Given the description of an element on the screen output the (x, y) to click on. 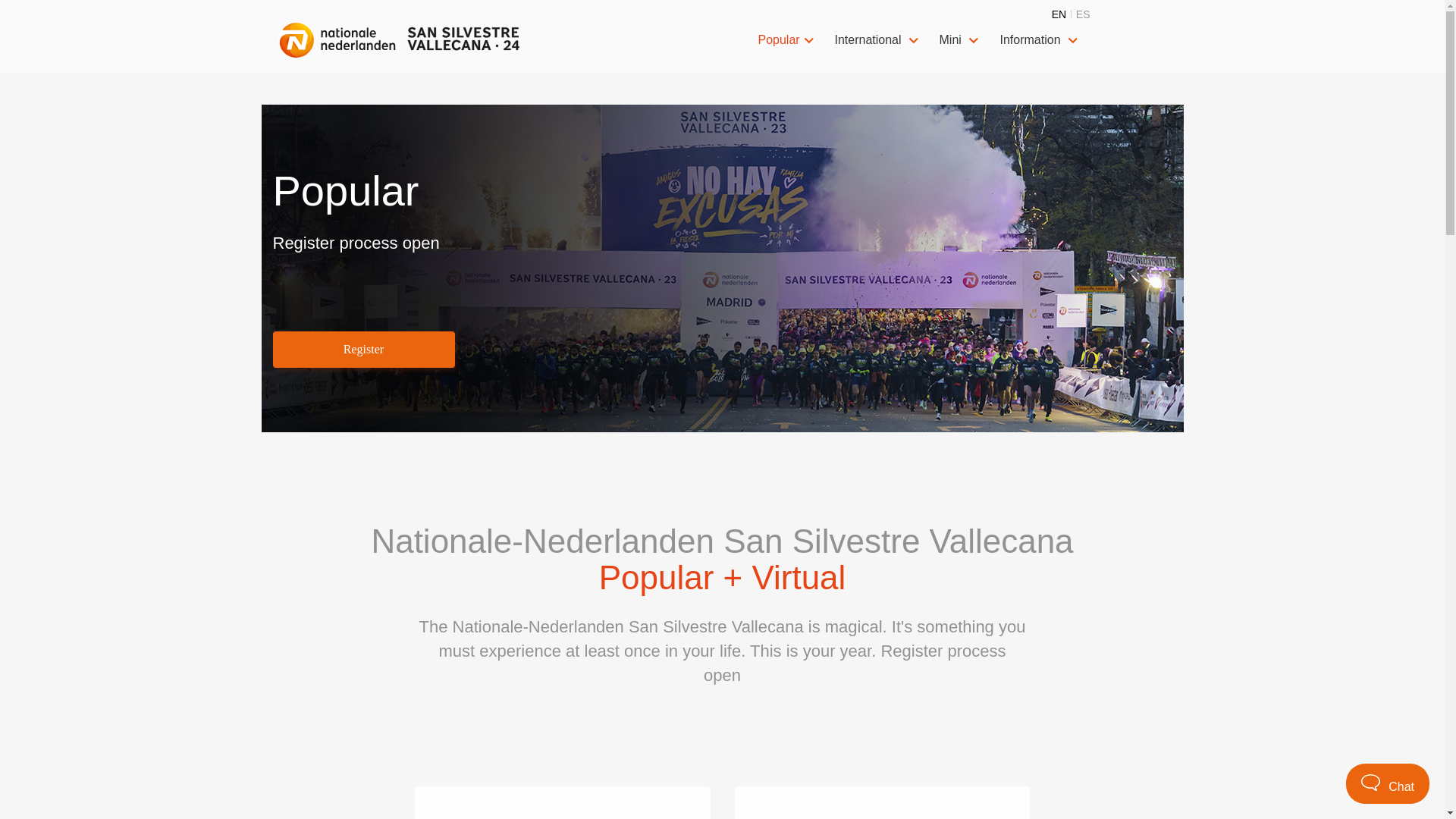
International (878, 40)
Popular (787, 40)
Mini (960, 40)
Information (1040, 40)
